Given the description of an element on the screen output the (x, y) to click on. 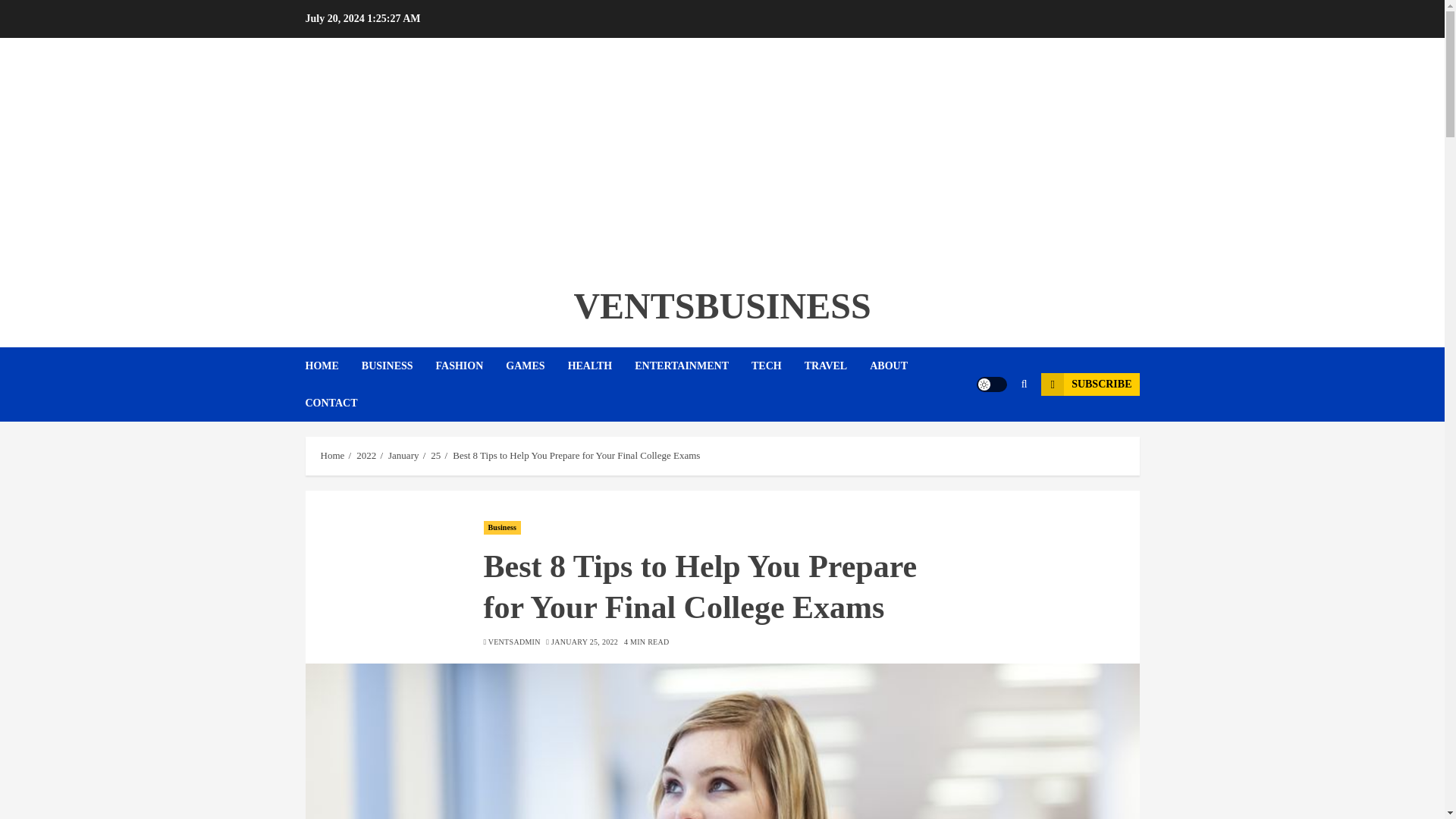
VENTSBUSINESS (721, 305)
TRAVEL (837, 365)
ENTERTAINMENT (692, 365)
Home (331, 455)
CONTACT (330, 402)
January (403, 455)
Search (994, 430)
HOME (332, 365)
TECH (778, 365)
GAMES (536, 365)
ABOUT (899, 365)
2022 (365, 455)
Best 8 Tips to Help You Prepare for Your Final College Exams (576, 455)
VENTSADMIN (513, 642)
